Given the description of an element on the screen output the (x, y) to click on. 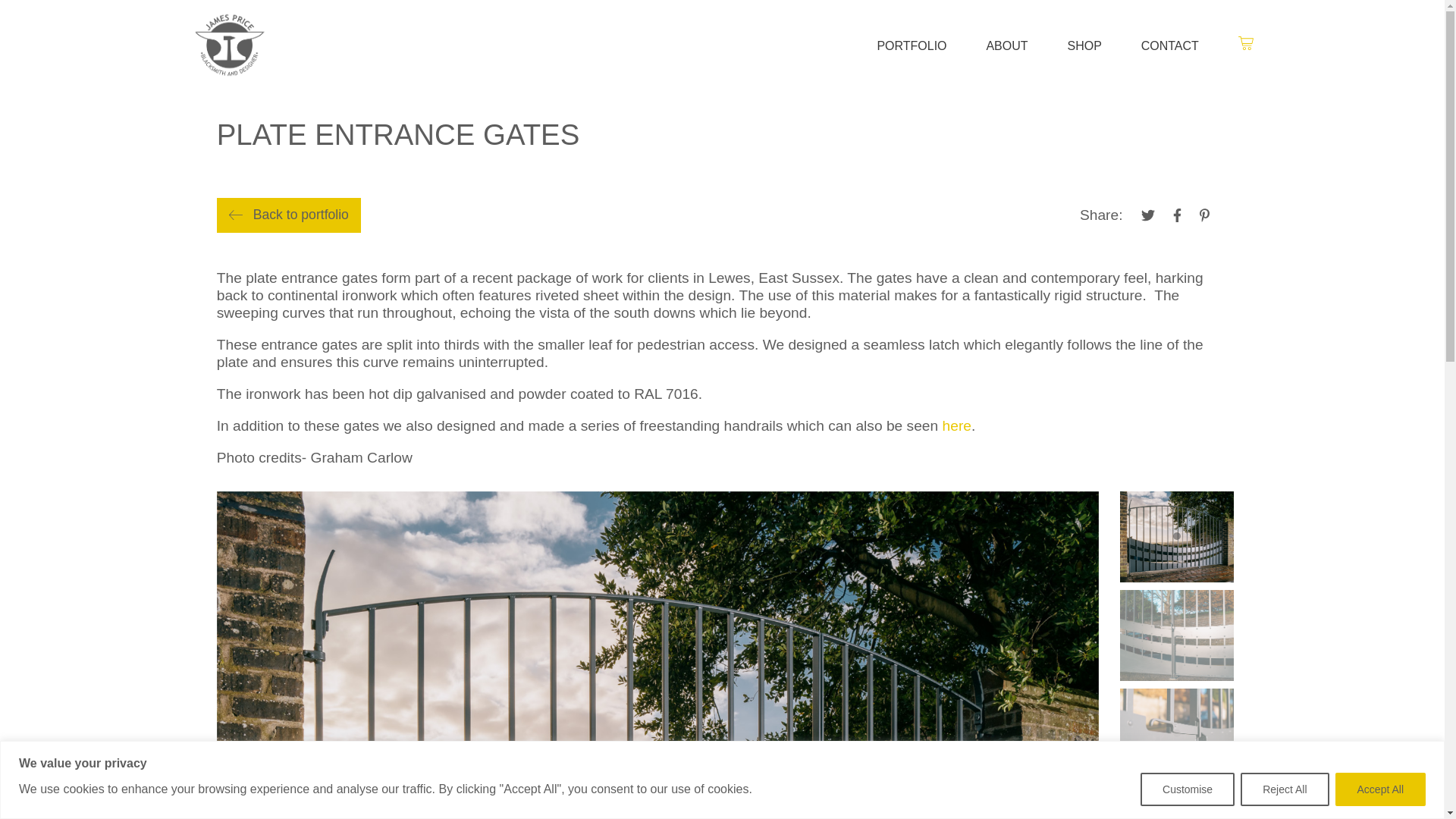
Back to portfolio (288, 214)
CONTACT (1169, 45)
here (956, 425)
ABOUT (1006, 45)
PORTFOLIO (911, 45)
Accept All (1380, 788)
Reject All (1283, 788)
View basket (1236, 44)
SHOP (1083, 45)
Share on Twitter (1147, 214)
Customise (1187, 788)
